Given the description of an element on the screen output the (x, y) to click on. 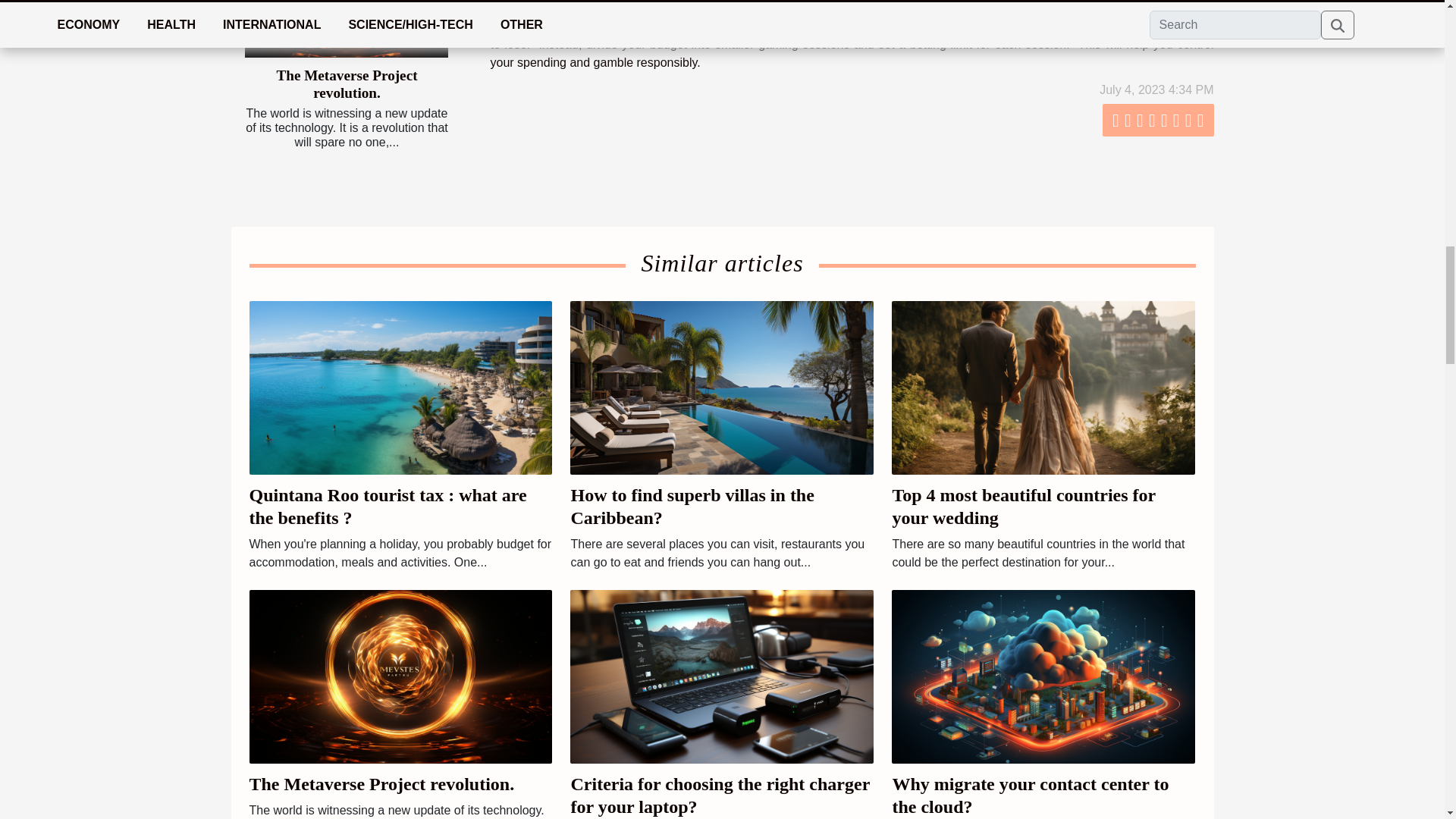
Top 4 most beautiful countries for your wedding (1022, 506)
The Metaverse Project revolution. (346, 83)
How to find superb villas in the Caribbean? (721, 386)
Quintana Roo tourist tax : what are the benefits ? (399, 386)
The Metaverse Project revolution. (399, 675)
The Metaverse Project revolution. (345, 28)
Criteria for choosing the right charger for your laptop? (719, 794)
Criteria for choosing the right charger for your laptop? (719, 794)
Top 4 most beautiful countries for your wedding (1022, 506)
Why migrate your contact center to the cloud? (1043, 675)
Quintana Roo tourist tax : what are the benefits ? (386, 506)
The Metaverse Project revolution. (380, 783)
Top 4 most beautiful countries for your wedding (1043, 386)
Criteria for choosing the right charger for your laptop? (721, 675)
How to find superb villas in the Caribbean? (691, 506)
